Given the description of an element on the screen output the (x, y) to click on. 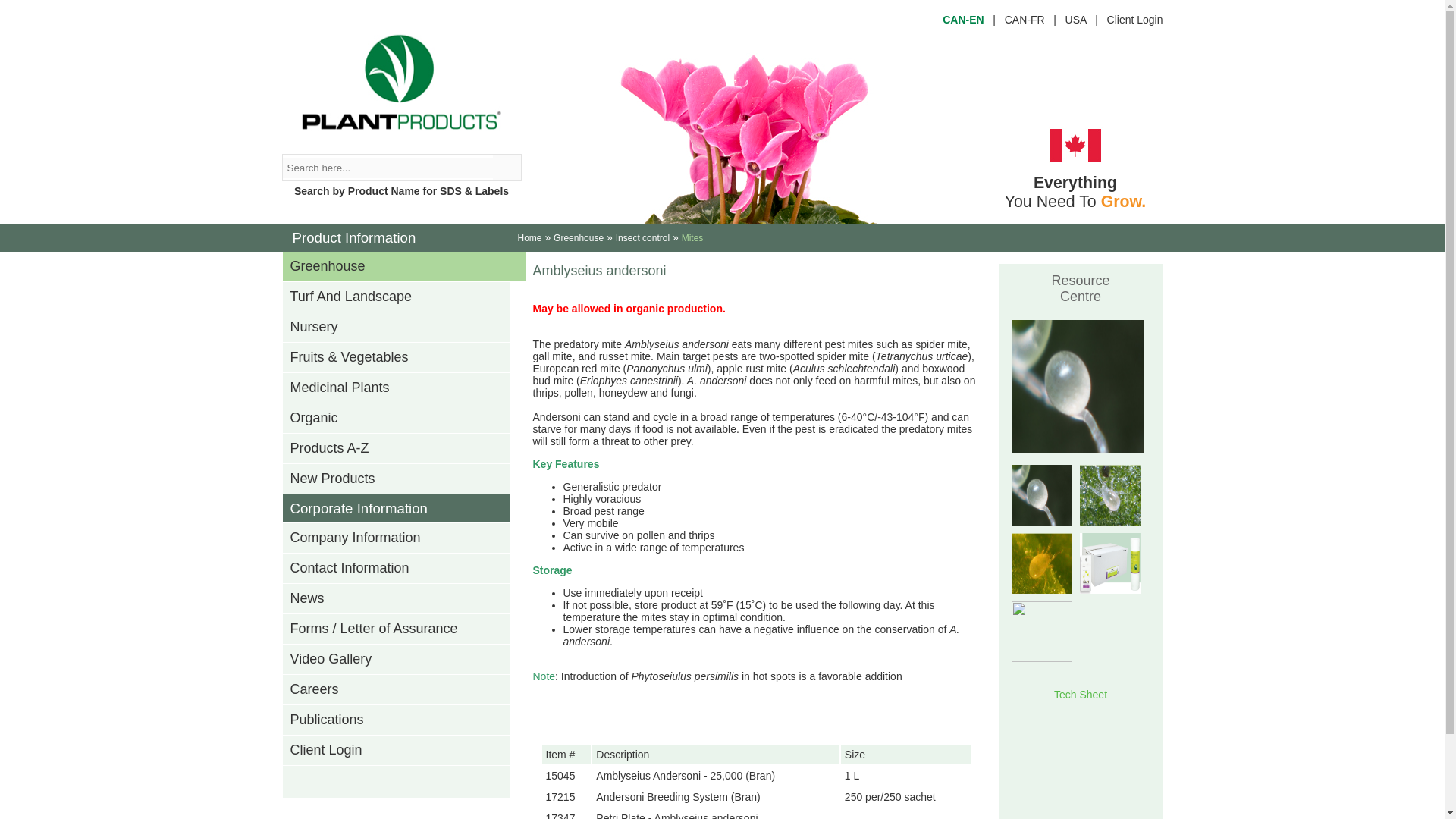
Mites (692, 236)
Client Login (403, 750)
Medicinal Plants (403, 388)
News (403, 598)
CAN-EN (963, 19)
Greenhouse (578, 236)
Publications (403, 720)
Company Information (403, 538)
Client Login (1134, 19)
USA (1075, 19)
Insect control (642, 236)
Home (528, 236)
Products A-Z (403, 449)
Tech Sheet (1080, 694)
Contact Information (403, 568)
